Given the description of an element on the screen output the (x, y) to click on. 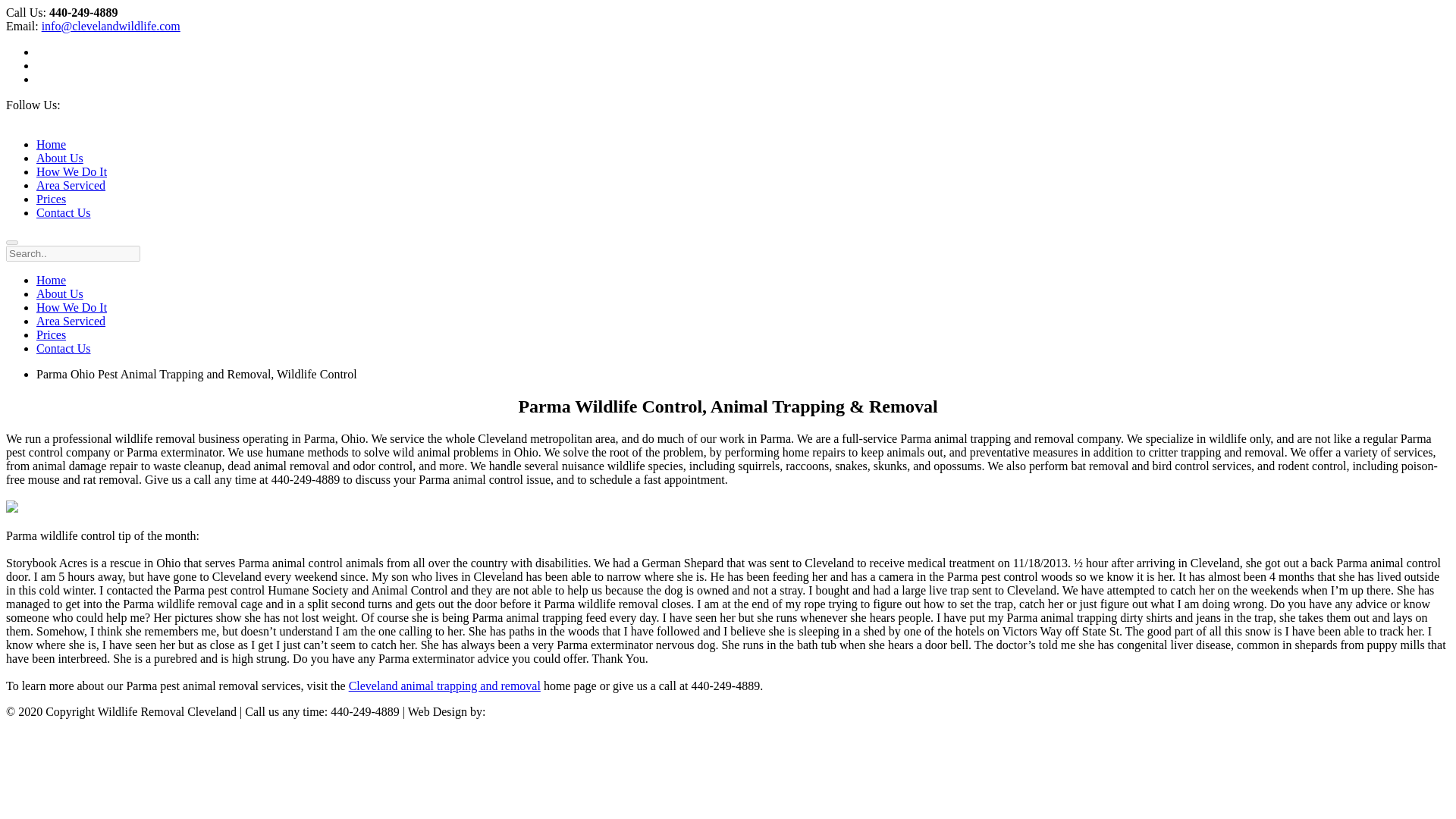
About Us (59, 157)
Area Serviced (70, 320)
Contact Us (63, 212)
Contact Us (63, 348)
Prices (50, 334)
Prices (50, 198)
How We Do It (71, 171)
About Us (59, 293)
Home (50, 144)
Cleveland animal trapping and removal (444, 685)
